Given the description of an element on the screen output the (x, y) to click on. 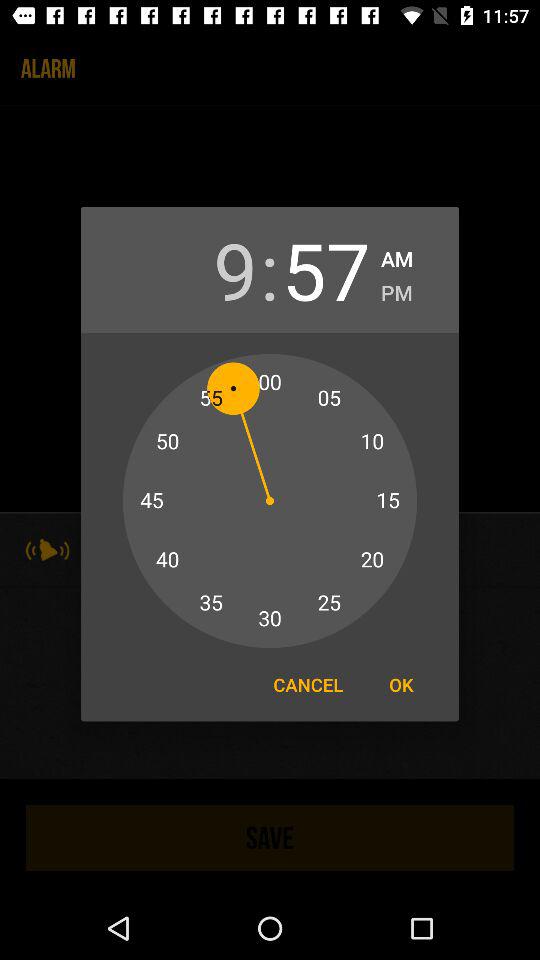
select 9 (213, 269)
